Given the description of an element on the screen output the (x, y) to click on. 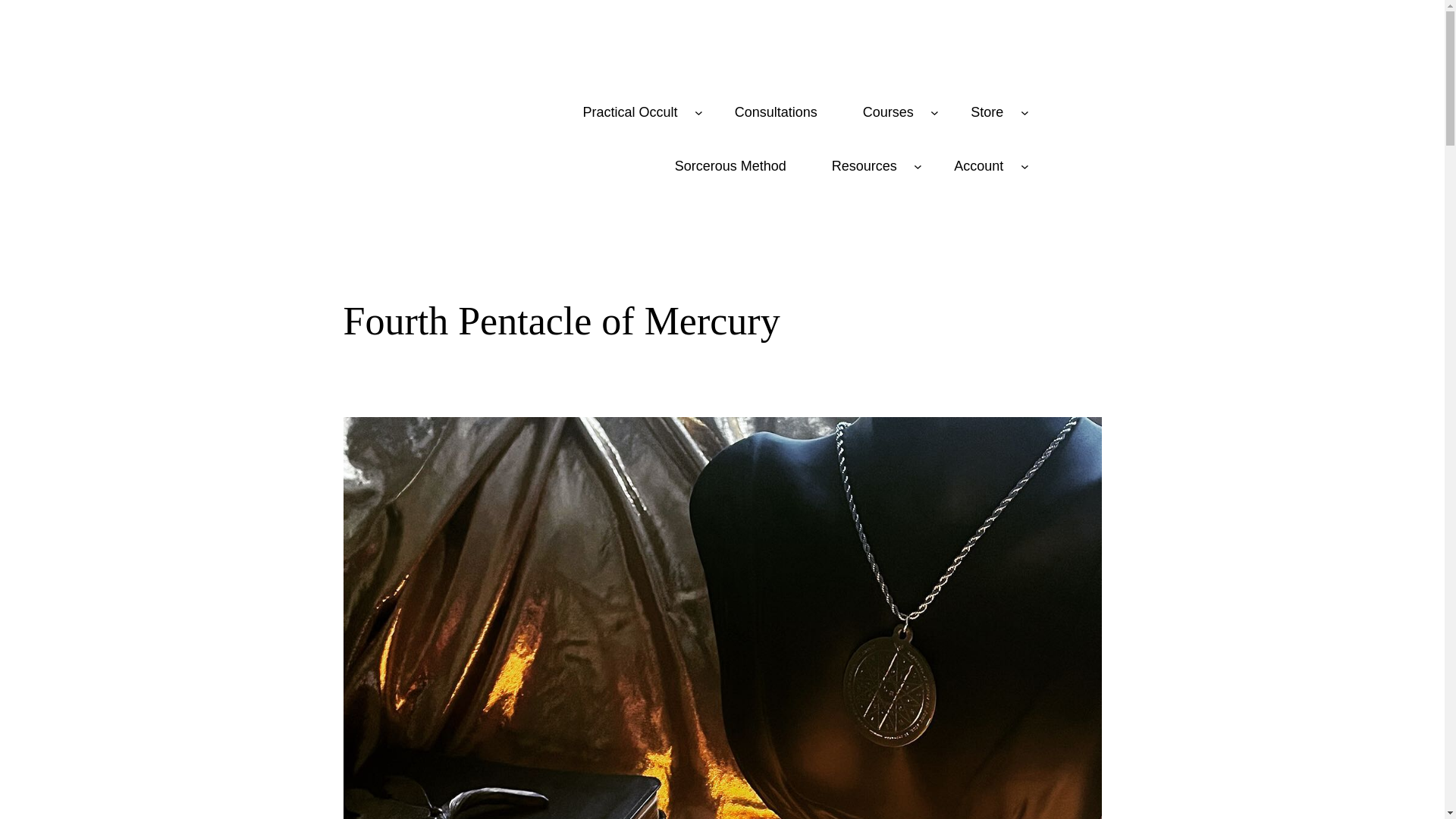
Store (986, 112)
Courses (887, 112)
Sorcerous Method (730, 166)
Consultations (775, 112)
Practical Occult (629, 112)
